Given the description of an element on the screen output the (x, y) to click on. 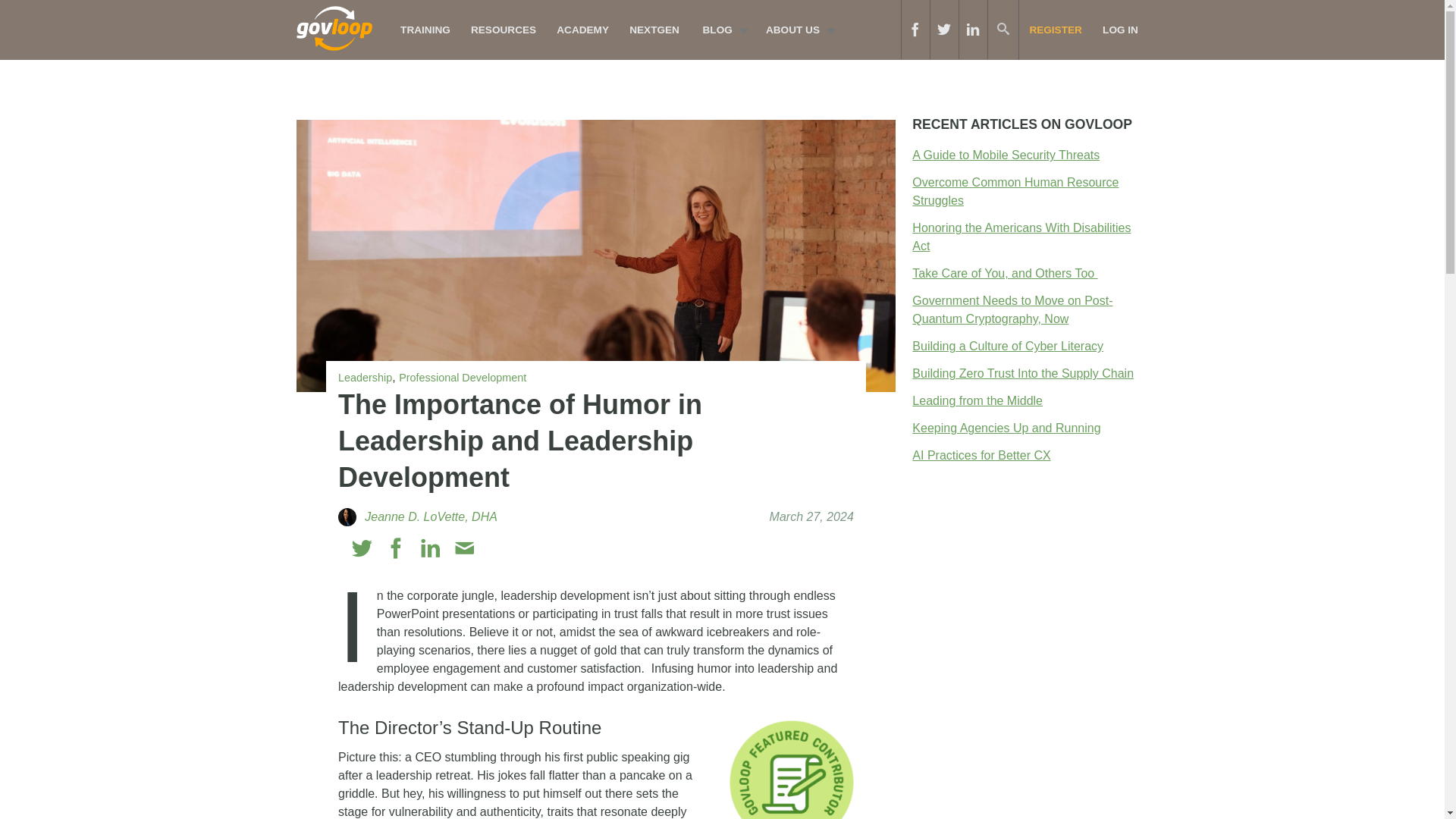
NEXTGEN (655, 29)
TRAINING (425, 29)
Email (464, 548)
Leadership (364, 377)
Facebook (395, 548)
RESOURCES (503, 29)
Print (497, 548)
BLOG (721, 29)
Linkedin (430, 548)
REGISTER (1056, 29)
ABOUT US (796, 29)
LOG IN (1120, 29)
Twitter (362, 548)
ACADEMY (583, 29)
